Given the description of an element on the screen output the (x, y) to click on. 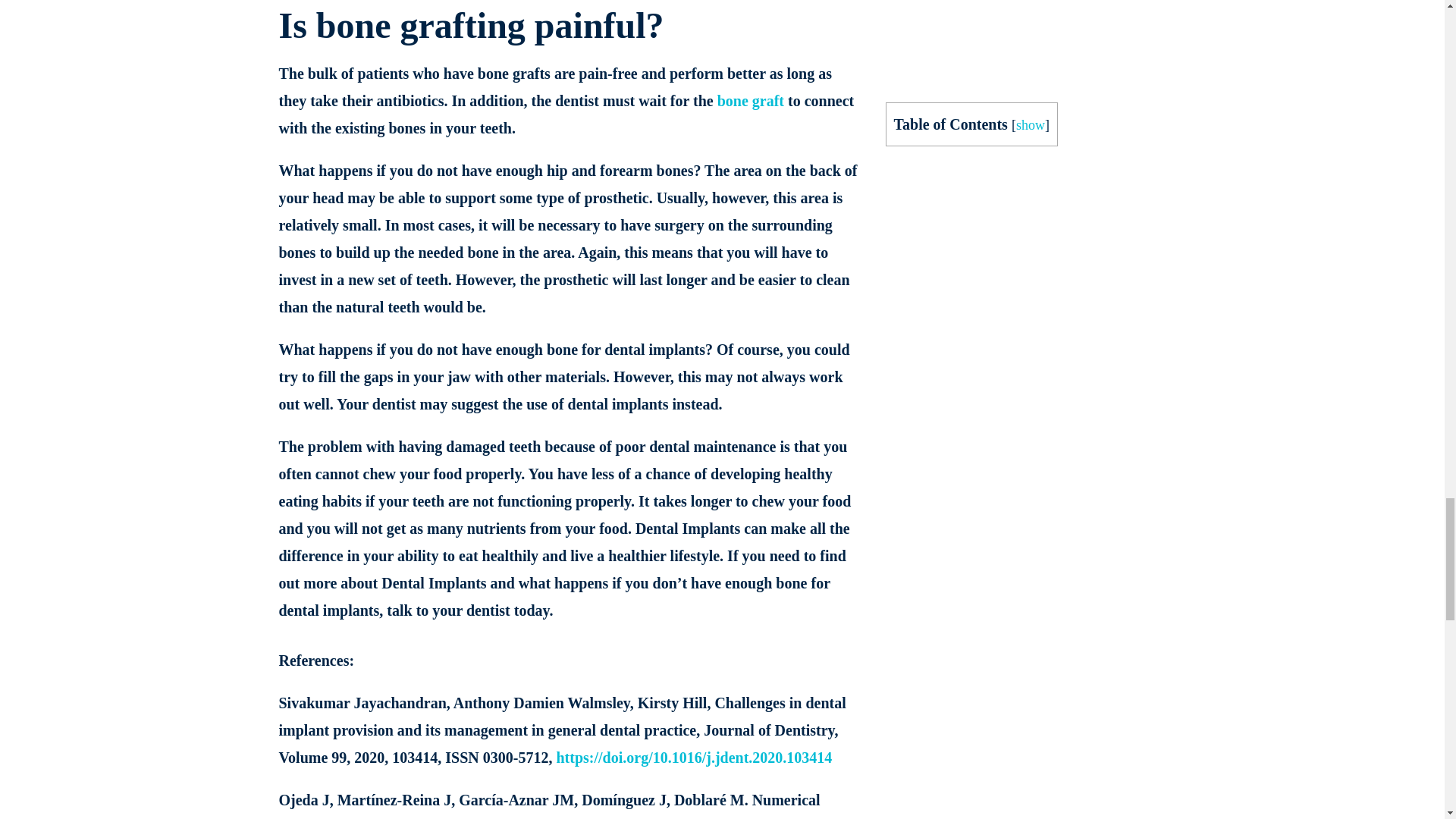
bone graft (750, 100)
